Given the description of an element on the screen output the (x, y) to click on. 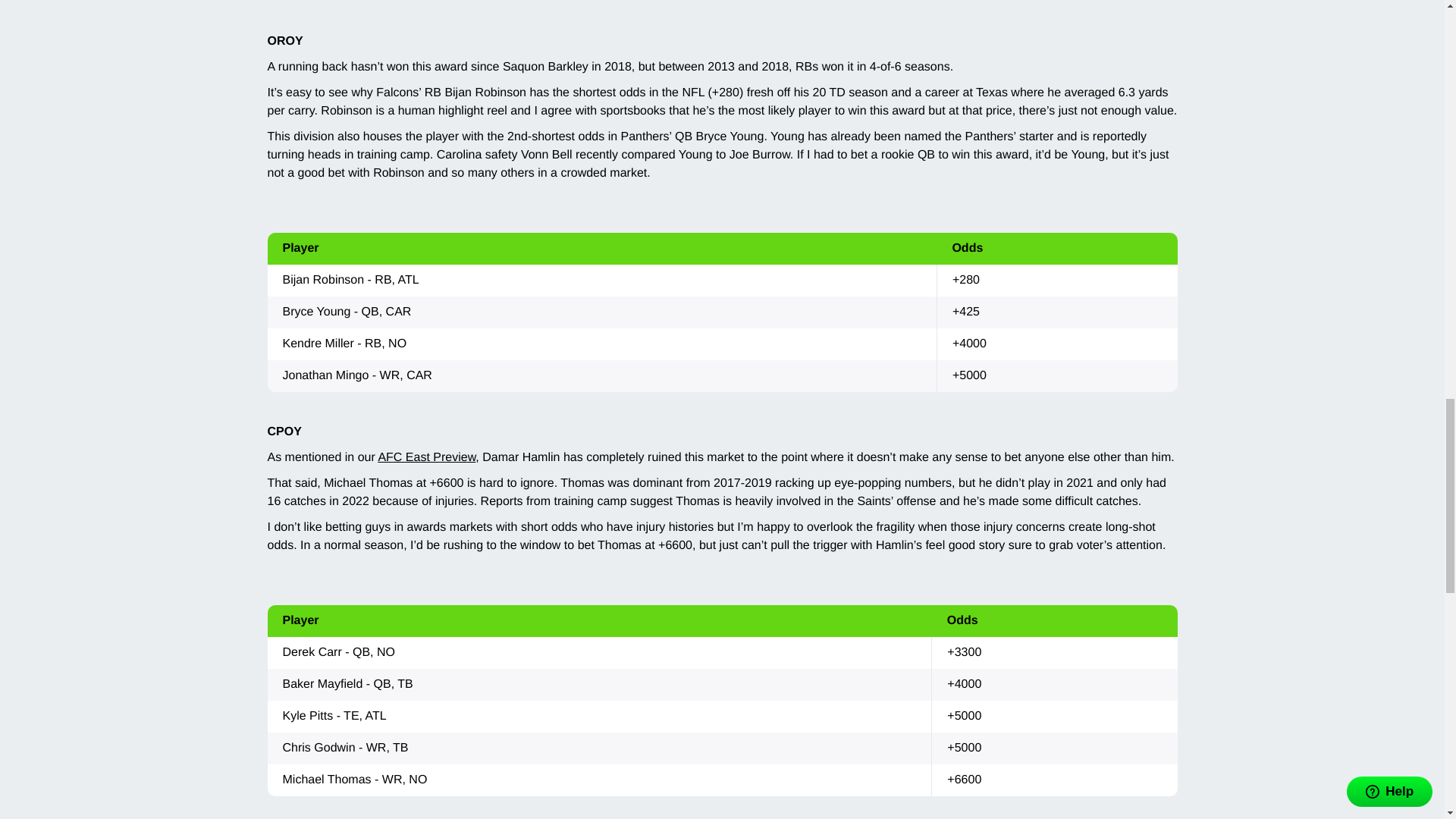
AFC East Preview (426, 457)
